Given the description of an element on the screen output the (x, y) to click on. 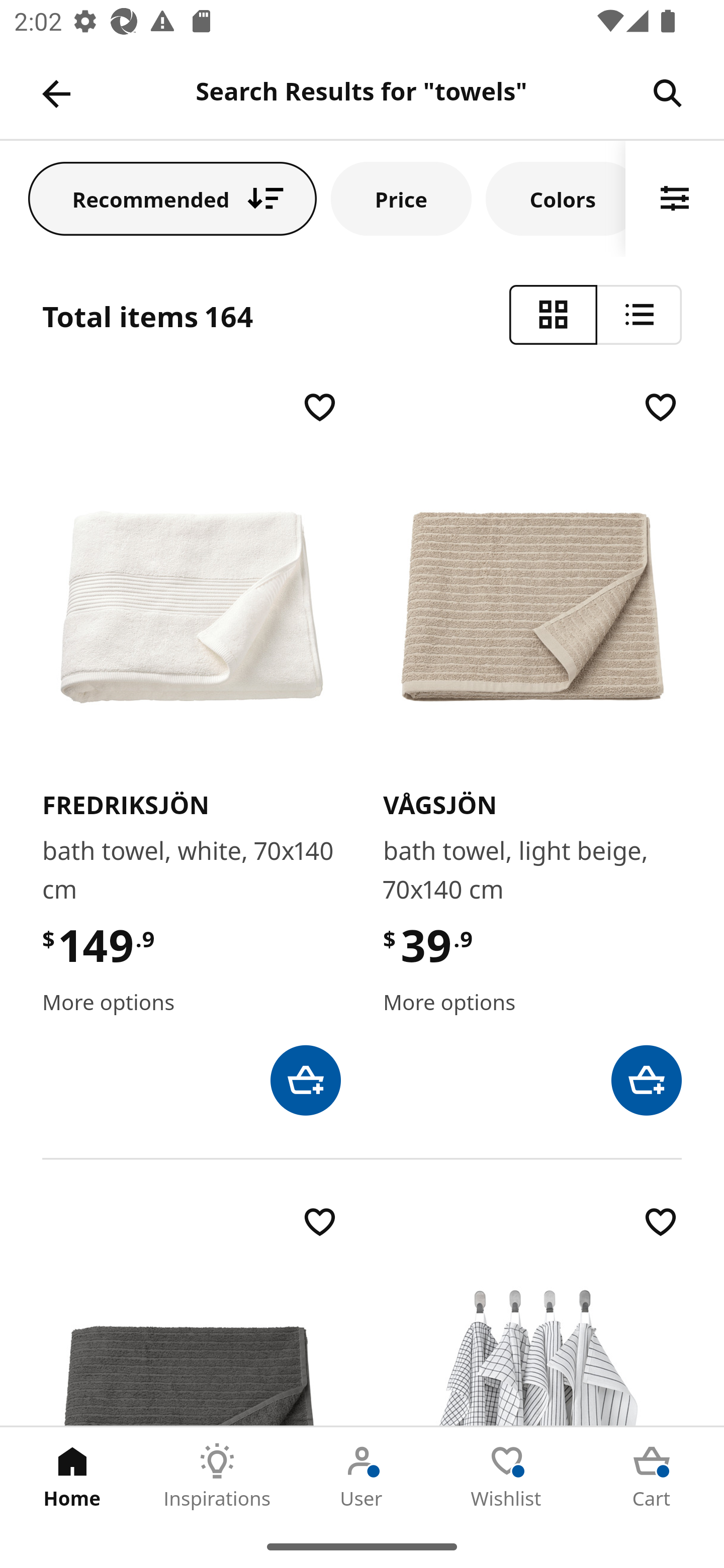
Recommended (172, 198)
Price (400, 198)
Colors (555, 198)
Home
Tab 1 of 5 (72, 1476)
Inspirations
Tab 2 of 5 (216, 1476)
User
Tab 3 of 5 (361, 1476)
Wishlist
Tab 4 of 5 (506, 1476)
Cart
Tab 5 of 5 (651, 1476)
